Given the description of an element on the screen output the (x, y) to click on. 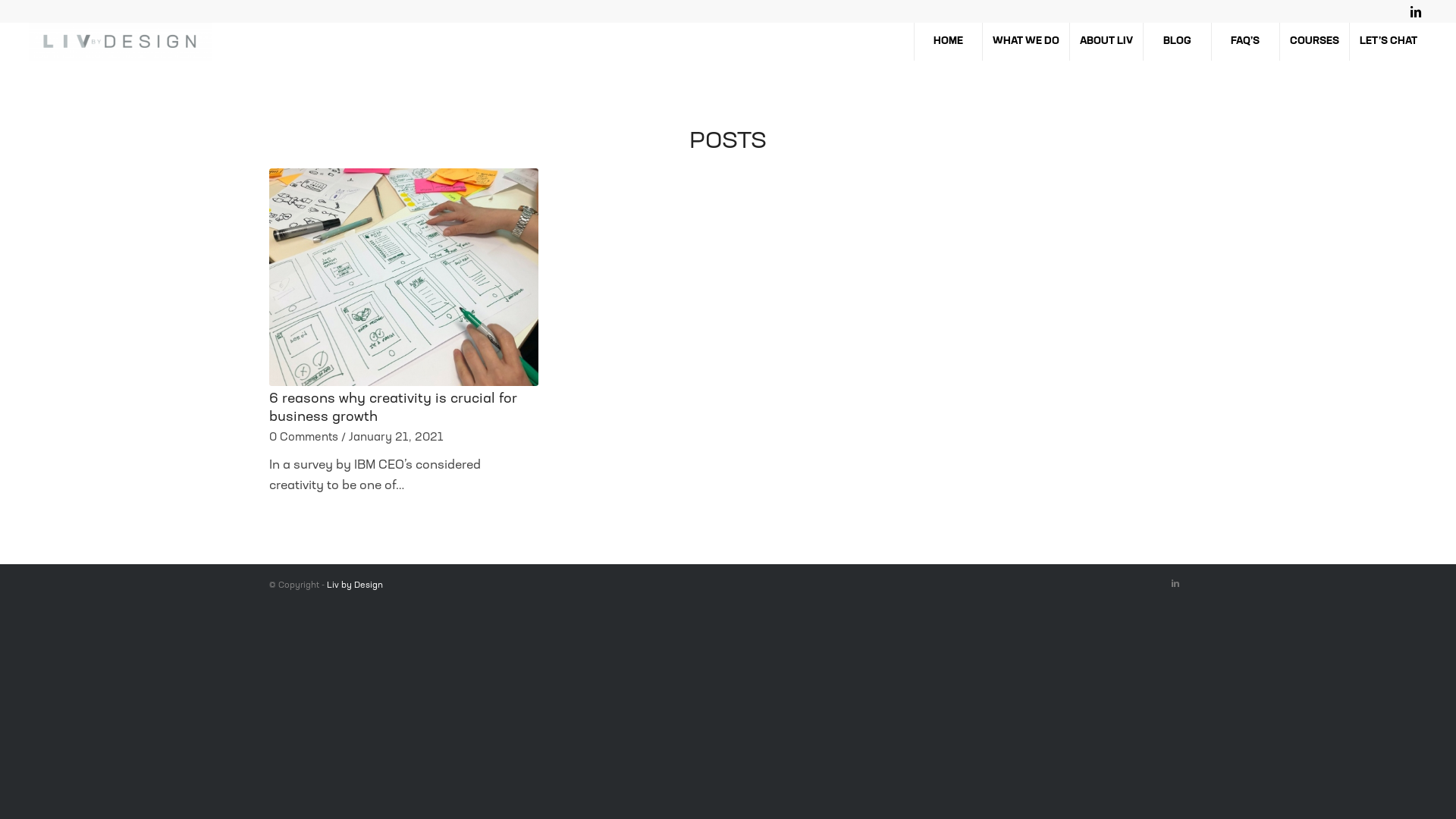
0 Comments Element type: text (303, 437)
BLOG Element type: text (1176, 41)
Linkedin Element type: hover (1415, 11)
COURSES Element type: text (1314, 41)
6 reasons why creativity is crucial for business growth Element type: text (393, 408)
Linkedin Element type: hover (1175, 583)
WHAT WE DO Element type: text (1025, 41)
HOME Element type: text (947, 41)
Liv by Design Element type: text (354, 585)
ABOUT LIV Element type: text (1105, 41)
